Given the description of an element on the screen output the (x, y) to click on. 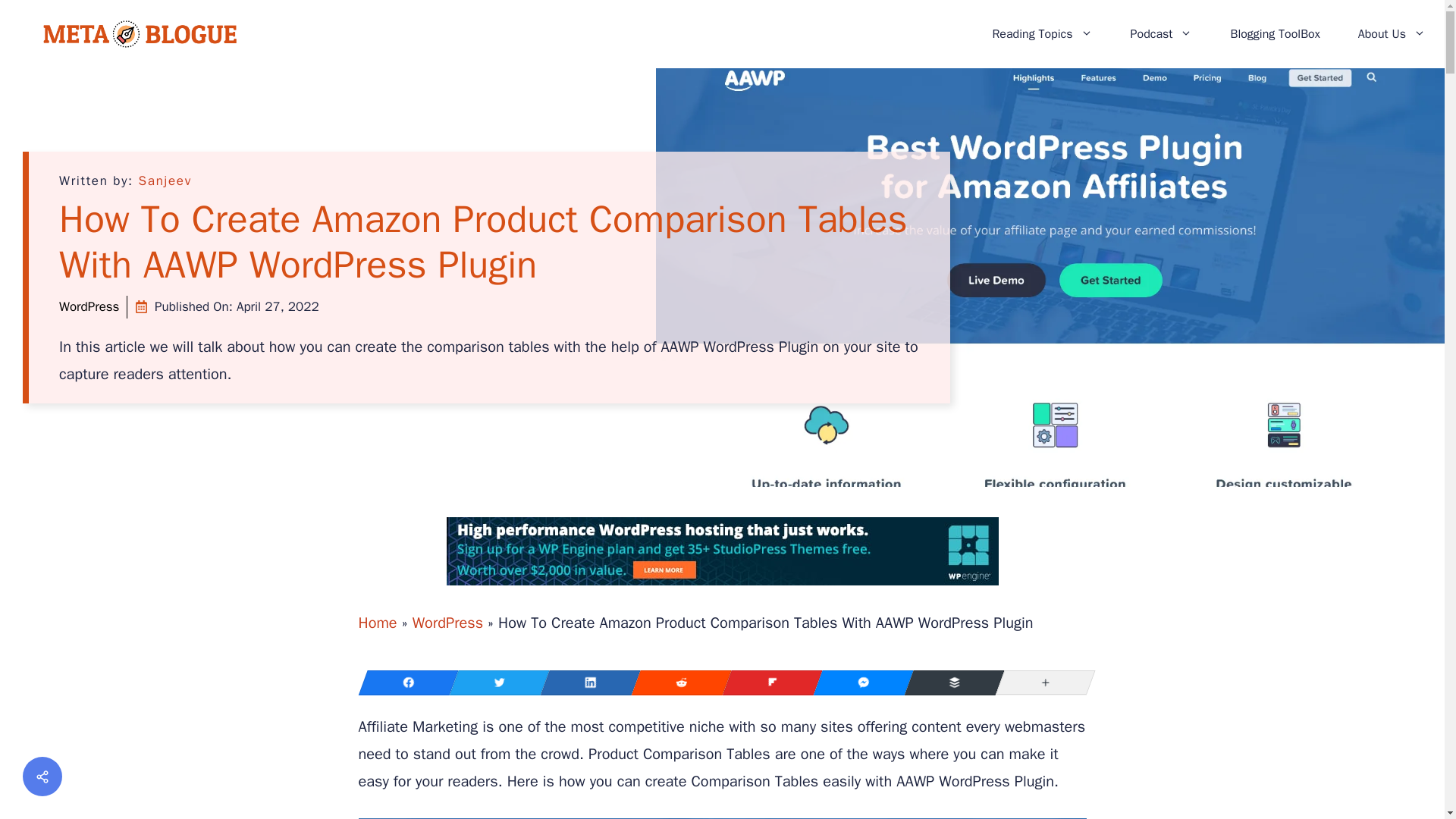
Sanjeev (165, 180)
Home (377, 622)
WordPress (89, 306)
Podcast (1161, 33)
Reading Topics (1041, 33)
MetaBlogue (140, 33)
WordPress (447, 622)
Blogging ToolBox (1274, 33)
